Given the description of an element on the screen output the (x, y) to click on. 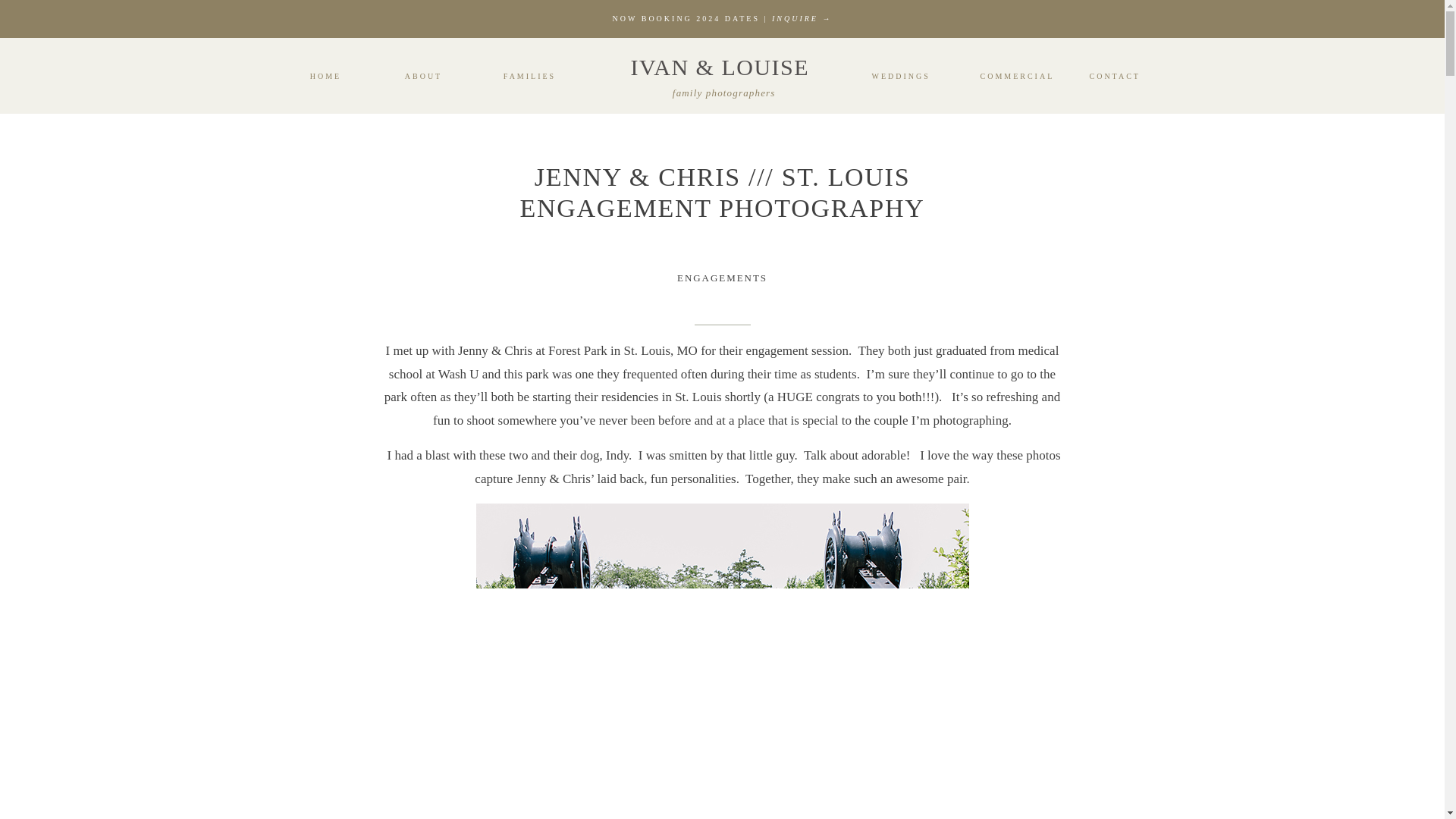
FAMILIES (529, 75)
HOME (325, 75)
ENGAGEMENTS (722, 277)
ABOUT (422, 75)
WEDDINGS (897, 75)
COMMERCIAL (1012, 75)
CONTACT (1113, 75)
